Given the description of an element on the screen output the (x, y) to click on. 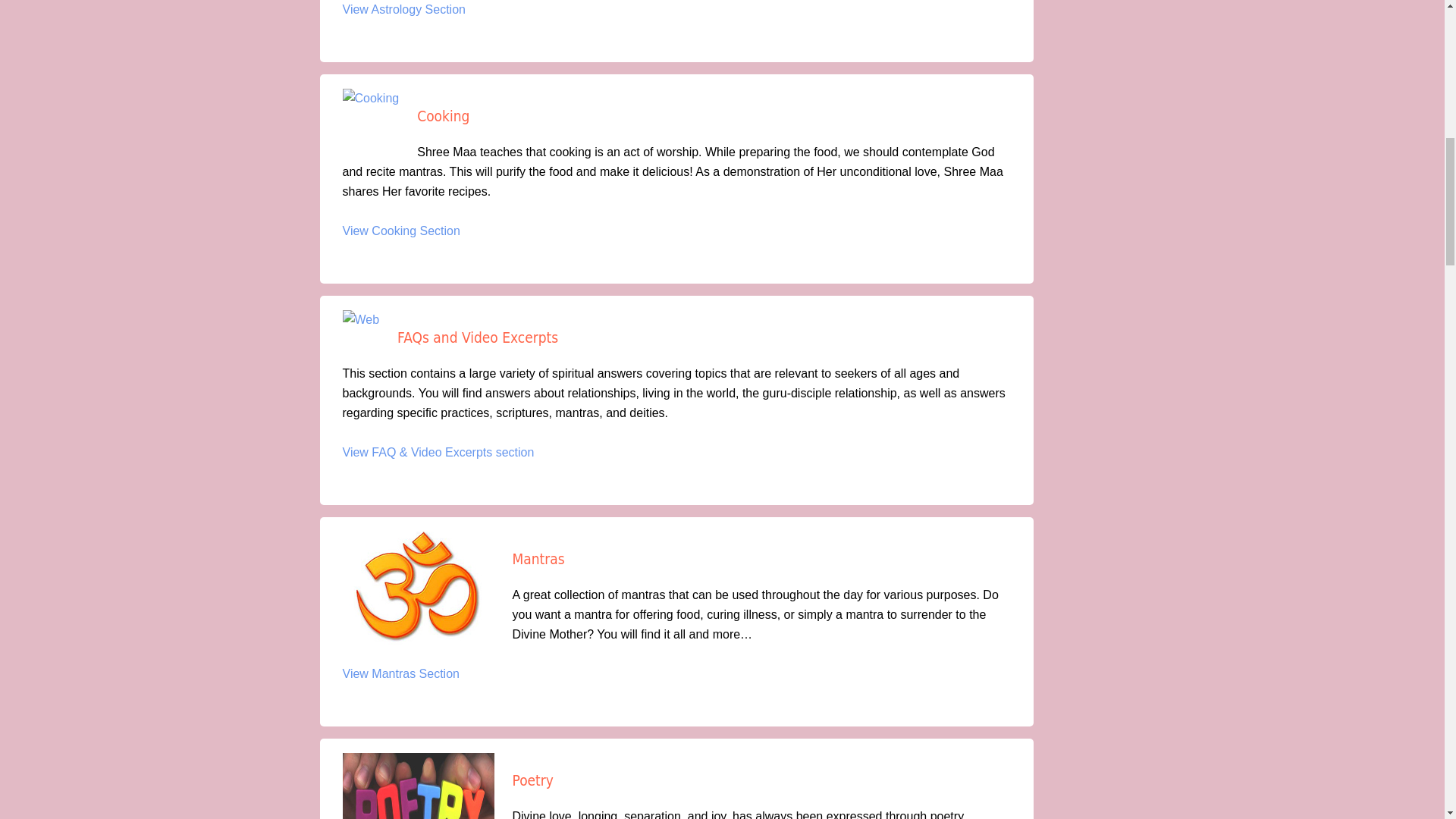
Cooking section (415, 230)
Mantras Section (415, 673)
Astrology (418, 9)
